Given the description of an element on the screen output the (x, y) to click on. 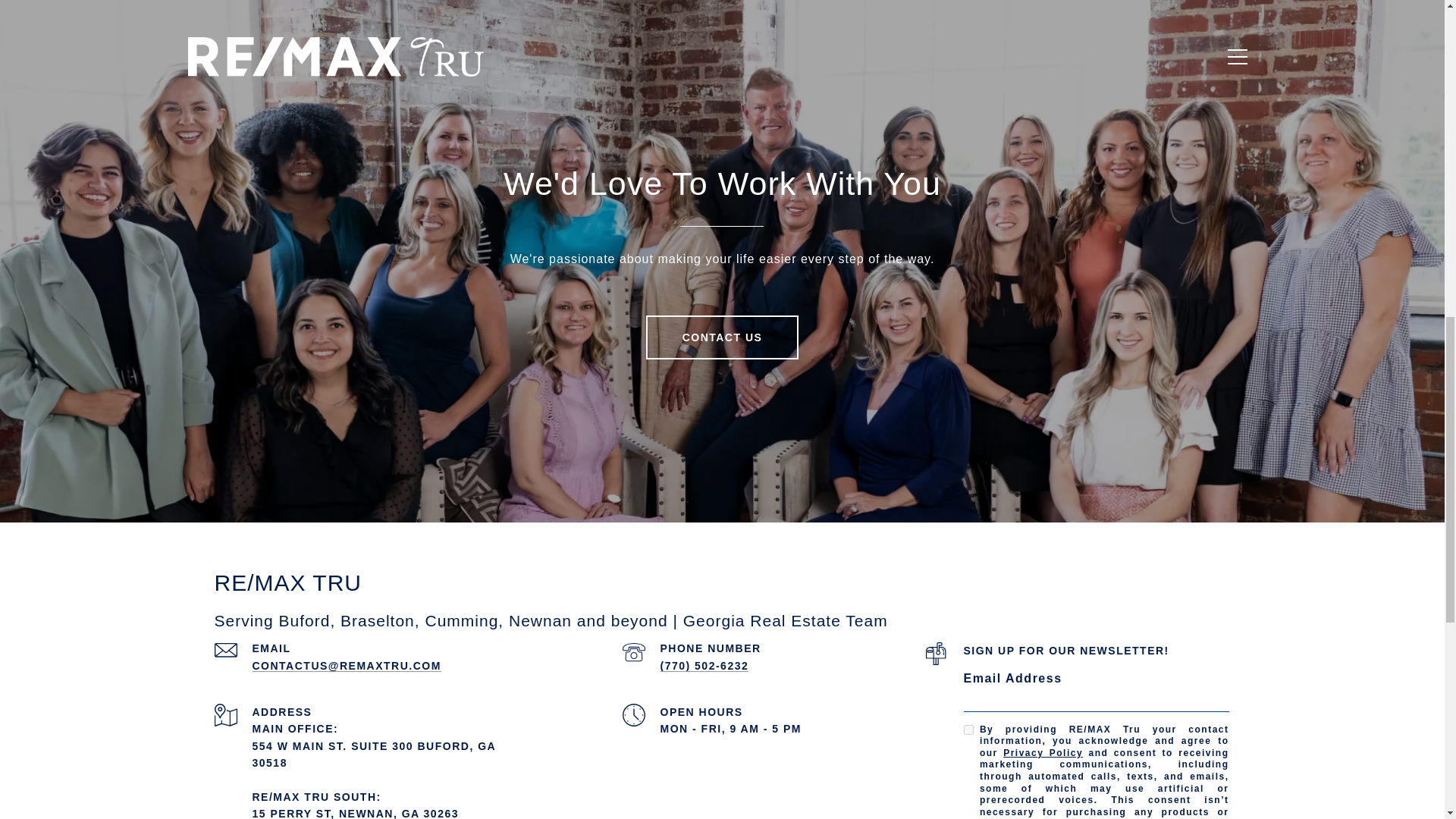
on (967, 729)
